Given the description of an element on the screen output the (x, y) to click on. 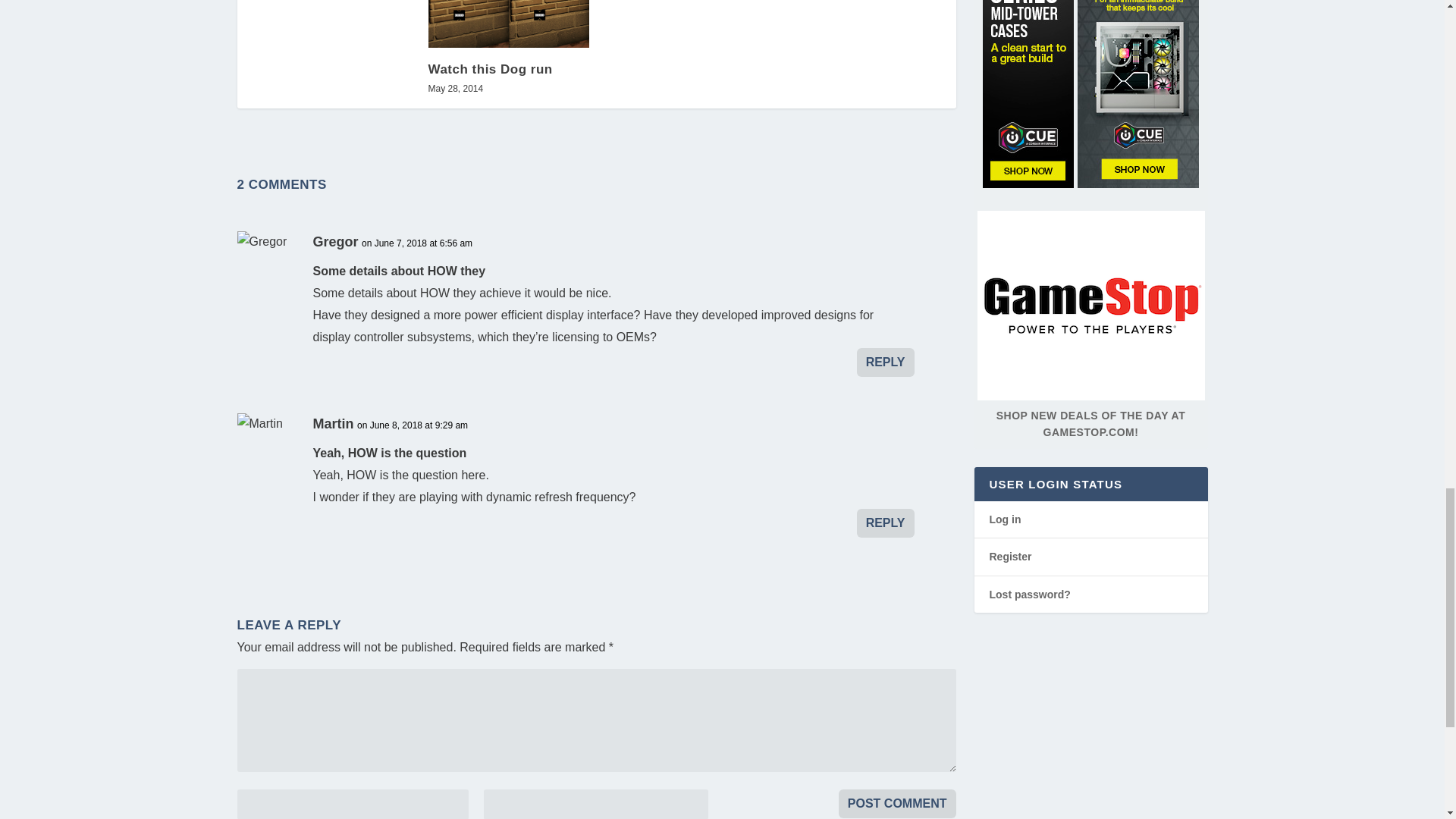
Post Comment (897, 803)
Watch this Dog run (508, 23)
